Given the description of an element on the screen output the (x, y) to click on. 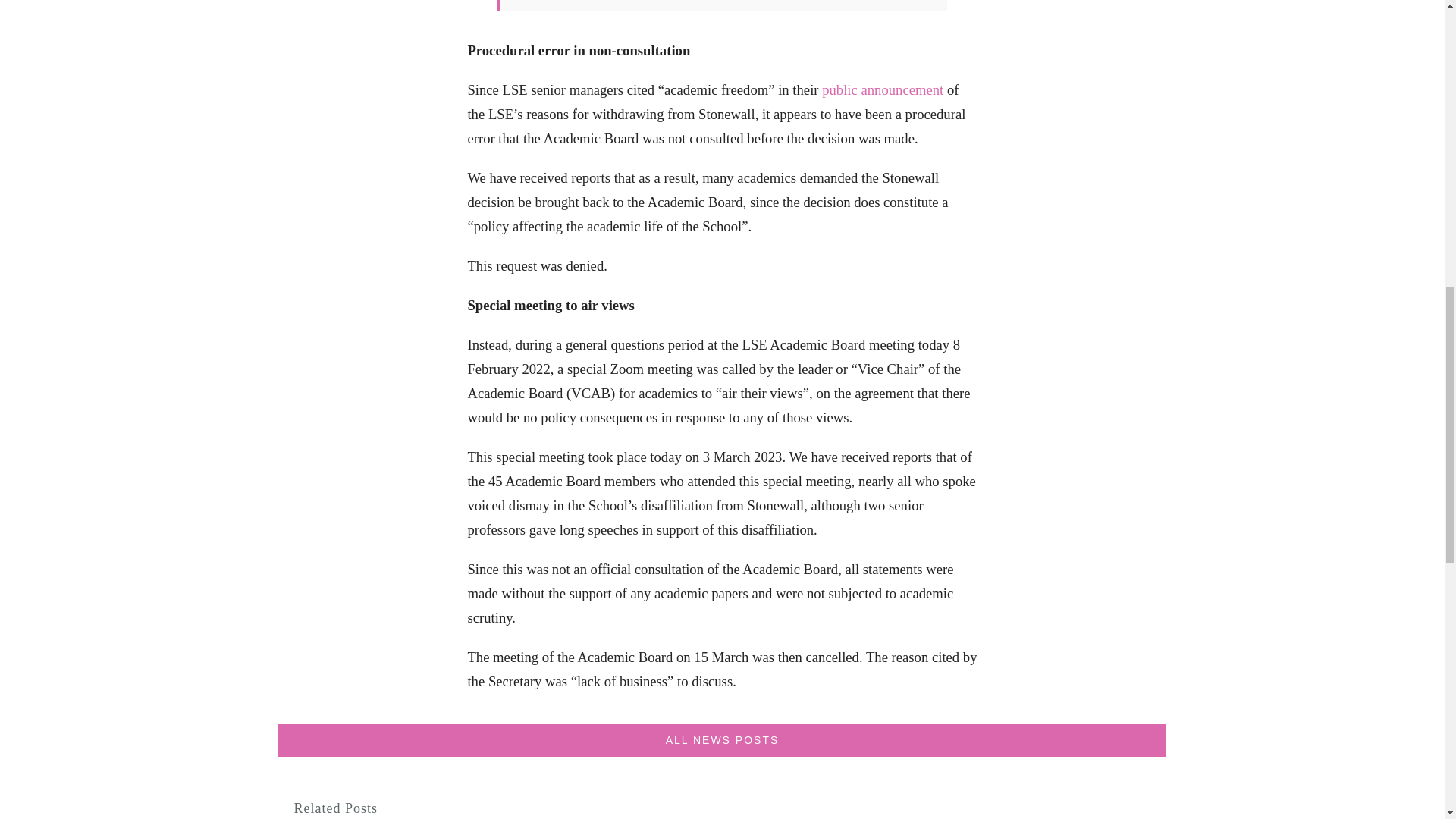
ALL NEWS POSTS (722, 739)
public announcement (882, 89)
